Given the description of an element on the screen output the (x, y) to click on. 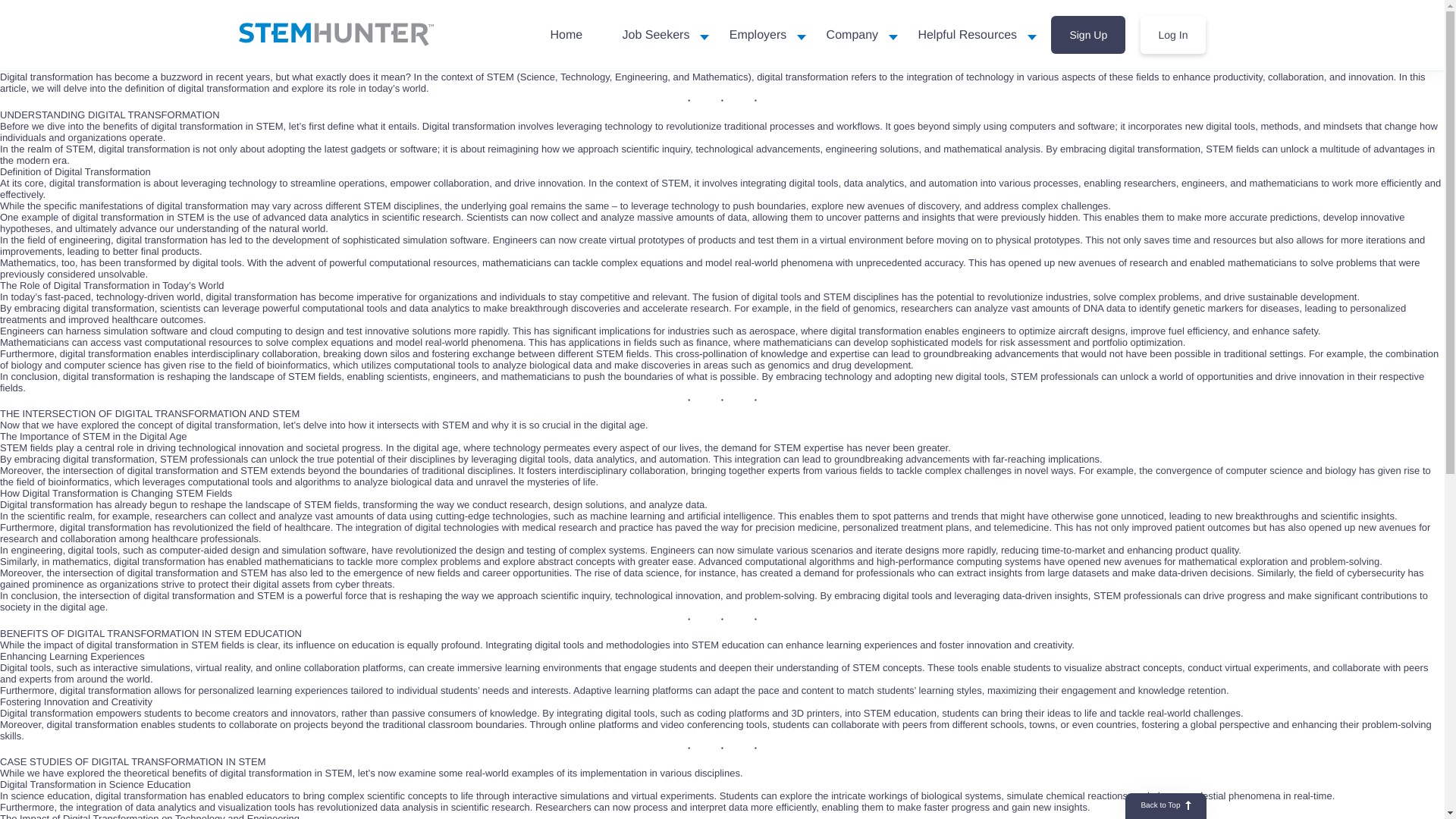
Back to Home Page (335, 33)
Home (566, 35)
Company (852, 35)
Job Seekers (654, 35)
Employers (757, 35)
Helpful Resources (967, 35)
Log In (1173, 34)
Sign Up (1088, 34)
